Given the description of an element on the screen output the (x, y) to click on. 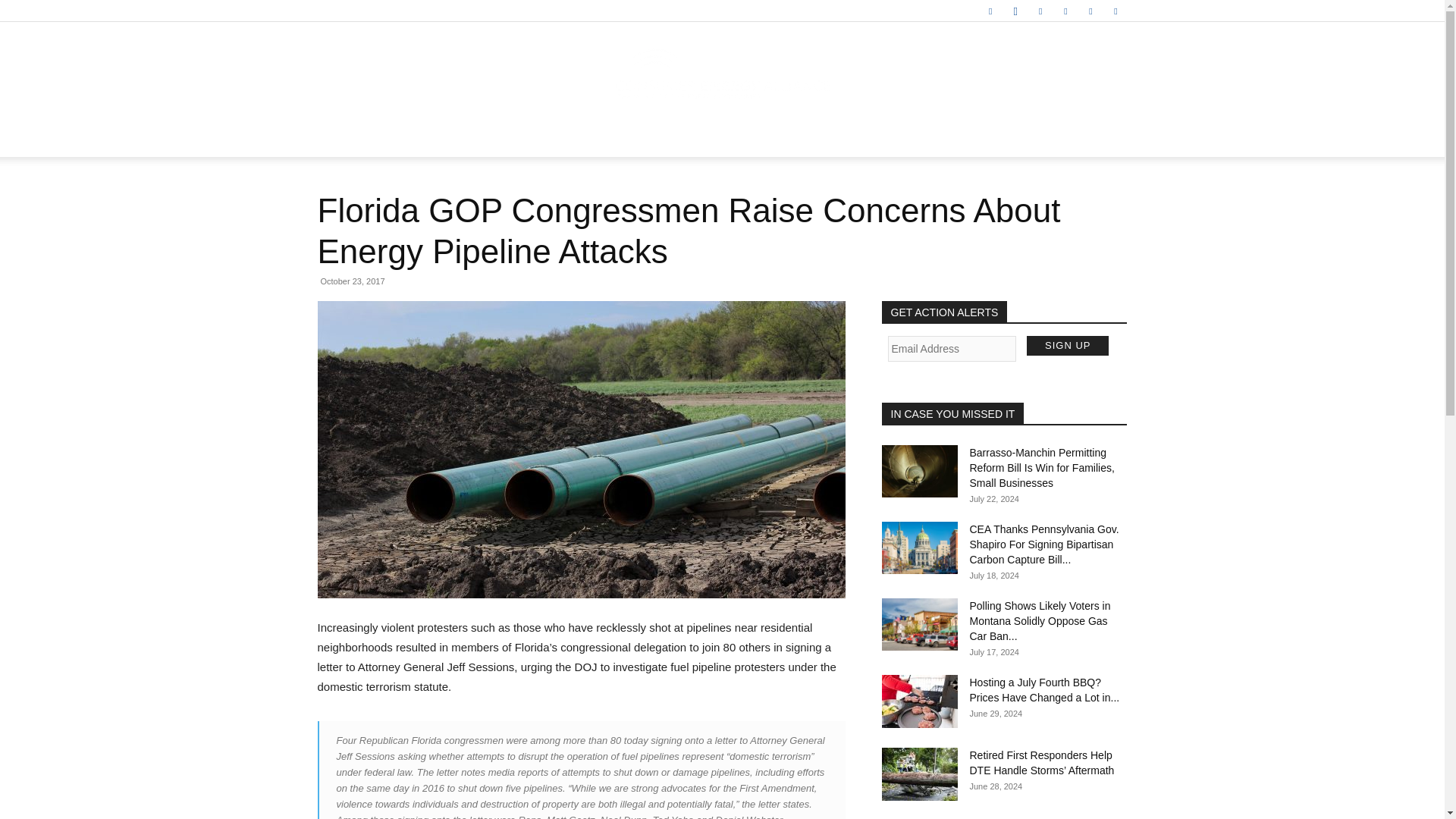
RSS (1065, 10)
Instagram (1015, 10)
Youtube (1114, 10)
Twitter (1090, 10)
Facebook (989, 10)
The leading national consumer advocate on energy issues. (721, 72)
Linkedin (1040, 10)
SIGN UP (1067, 345)
